Given the description of an element on the screen output the (x, y) to click on. 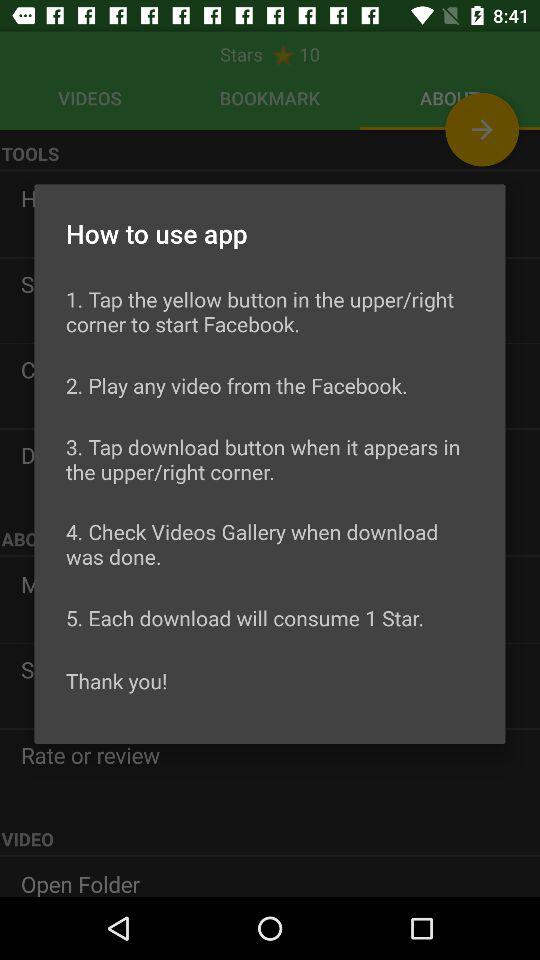
click the item below the 1 tap the icon (236, 385)
